Given the description of an element on the screen output the (x, y) to click on. 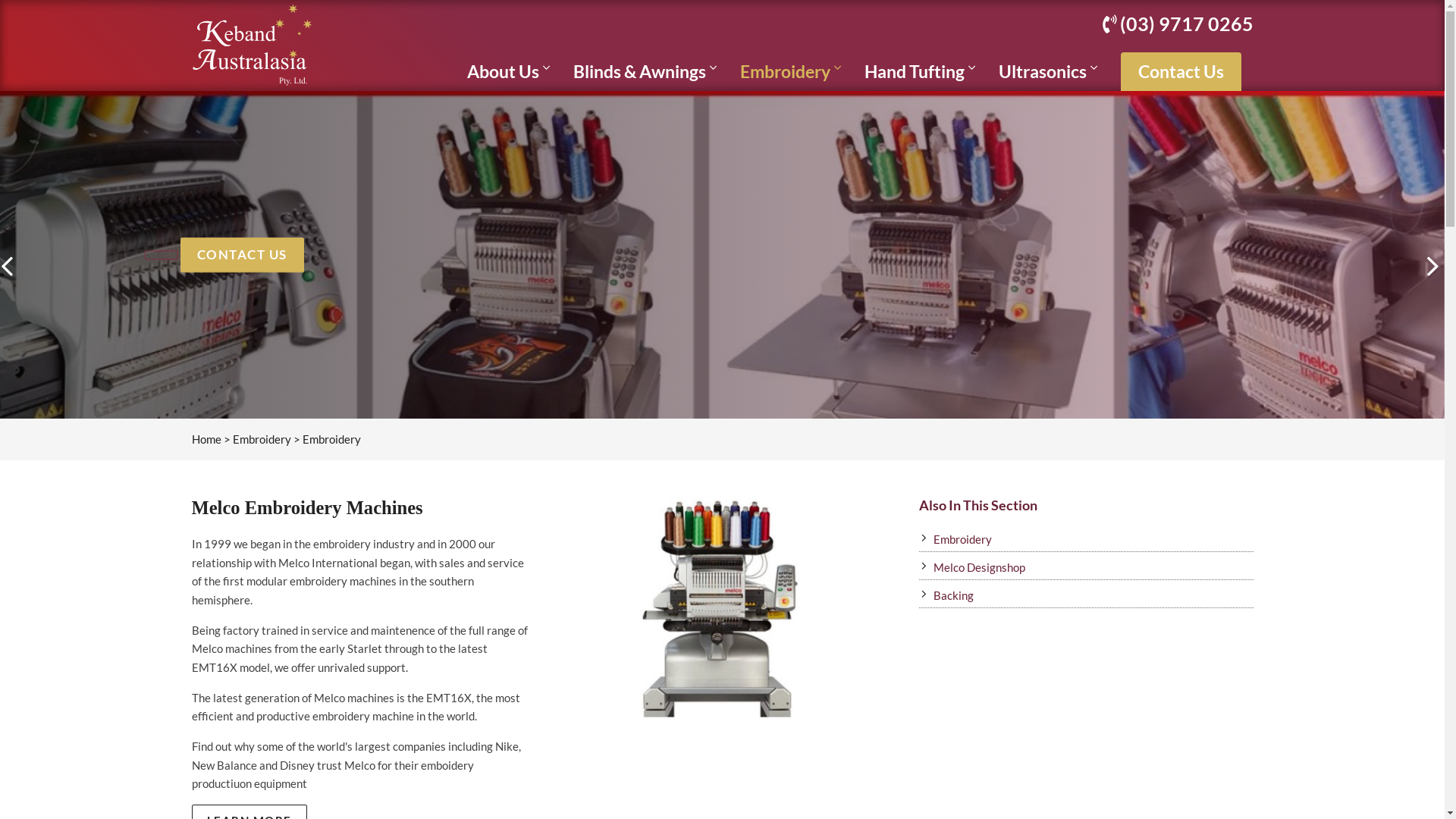
Embroidery Element type: text (261, 438)
Blinds & Awnings Element type: text (644, 71)
Embroidery Element type: text (790, 71)
NEXT Element type: text (1432, 266)
Hand Tufting Element type: text (919, 71)
CONTACT US Element type: text (242, 254)
Home Element type: text (205, 438)
Ultrasonics Element type: text (1047, 71)
Backing Element type: text (1085, 595)
Contact Us Element type: text (1180, 71)
PREVIOUS Element type: text (11, 266)
Melco Designshop Element type: text (1085, 567)
Embroidery Element type: text (1085, 539)
About Us Element type: text (508, 71)
Keband Australasia Element type: hover (251, 44)
(03) 9717 0265 Element type: text (1177, 26)
